Given the description of an element on the screen output the (x, y) to click on. 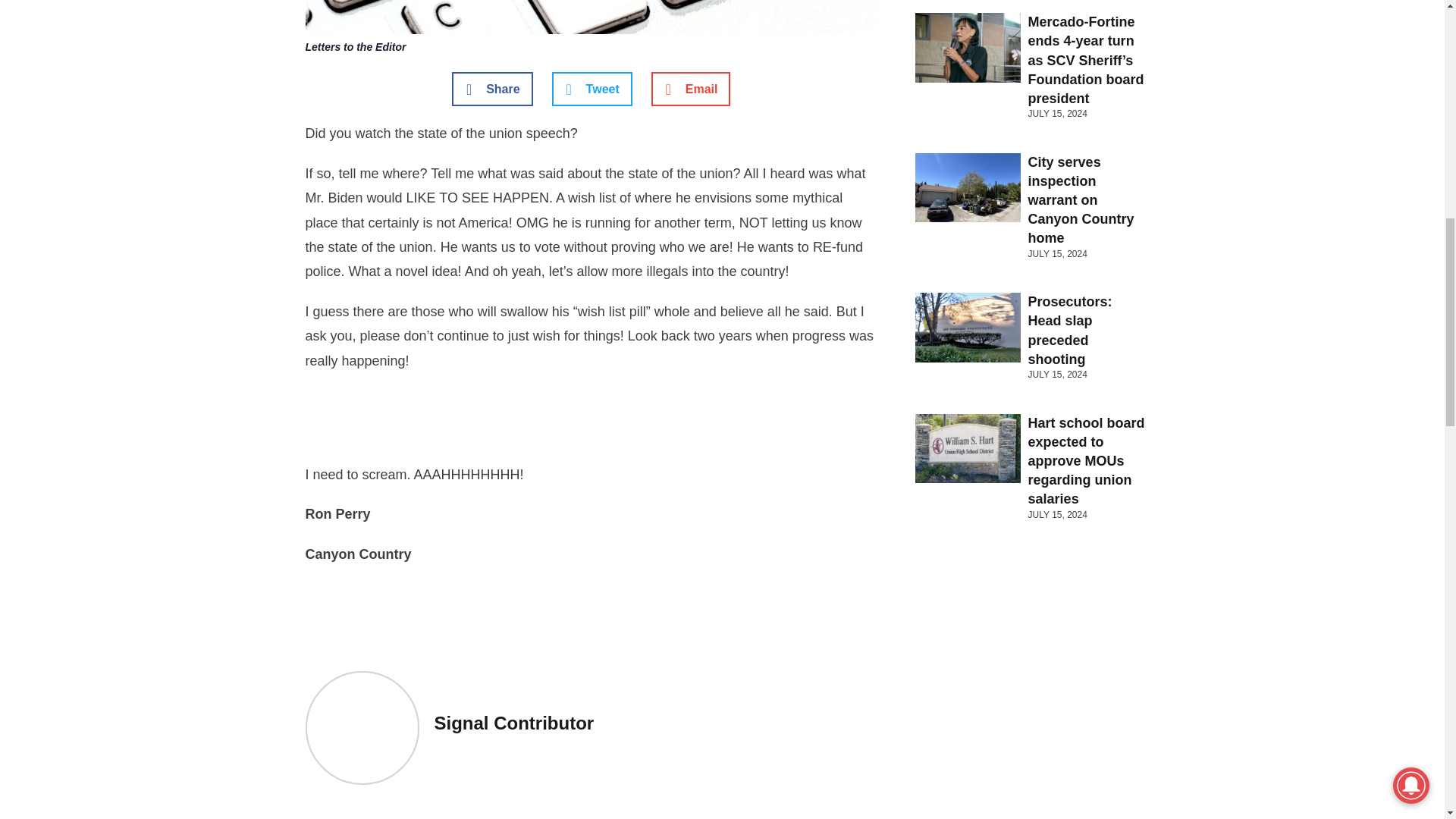
3rd party ad content (591, 422)
3rd party ad content (591, 615)
